Given the description of an element on the screen output the (x, y) to click on. 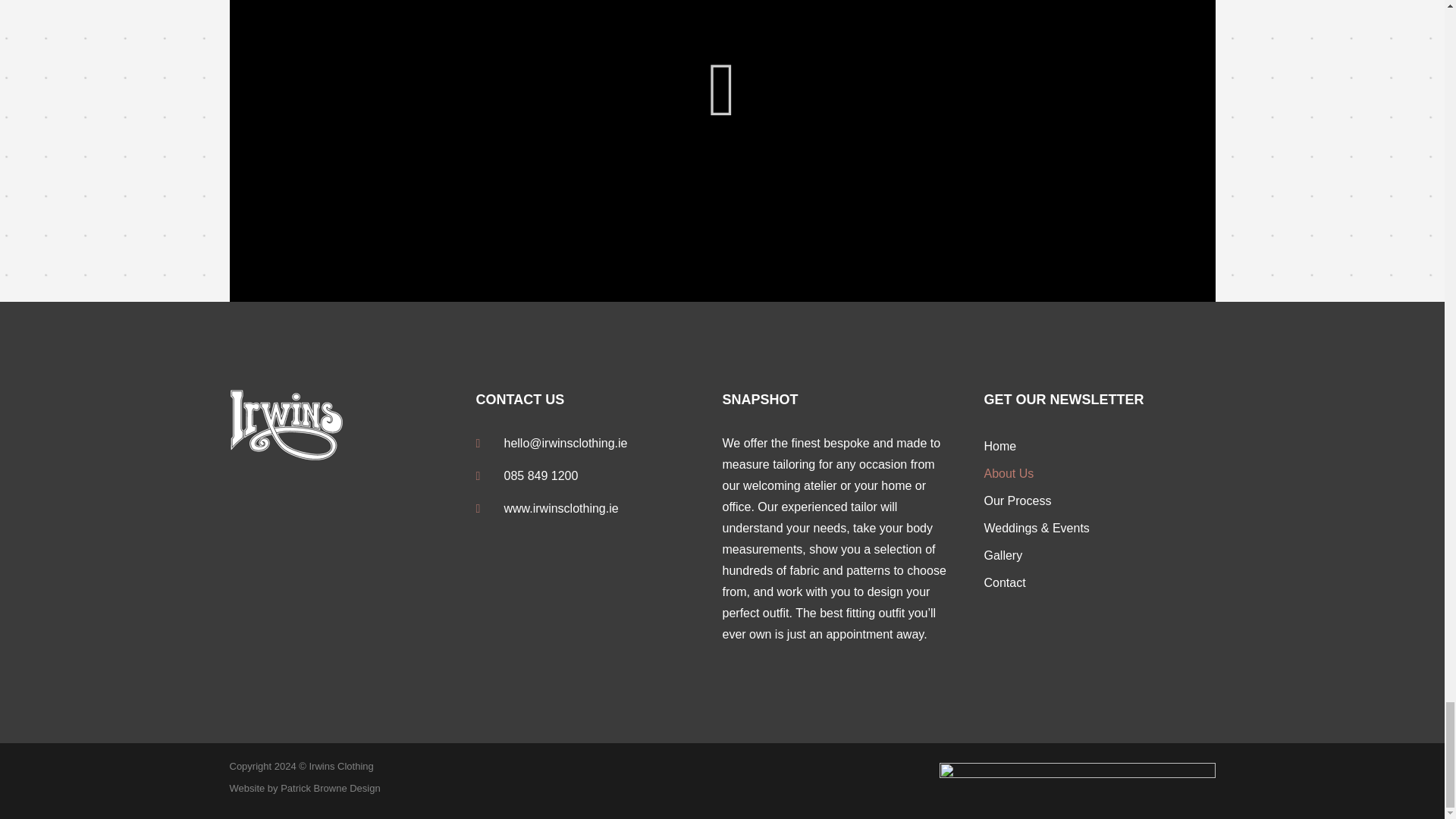
085 849 1200 (599, 476)
About Us (1099, 473)
www.irwinsclothing.ie (599, 508)
Our Process (1099, 501)
Home (1099, 446)
